Given the description of an element on the screen output the (x, y) to click on. 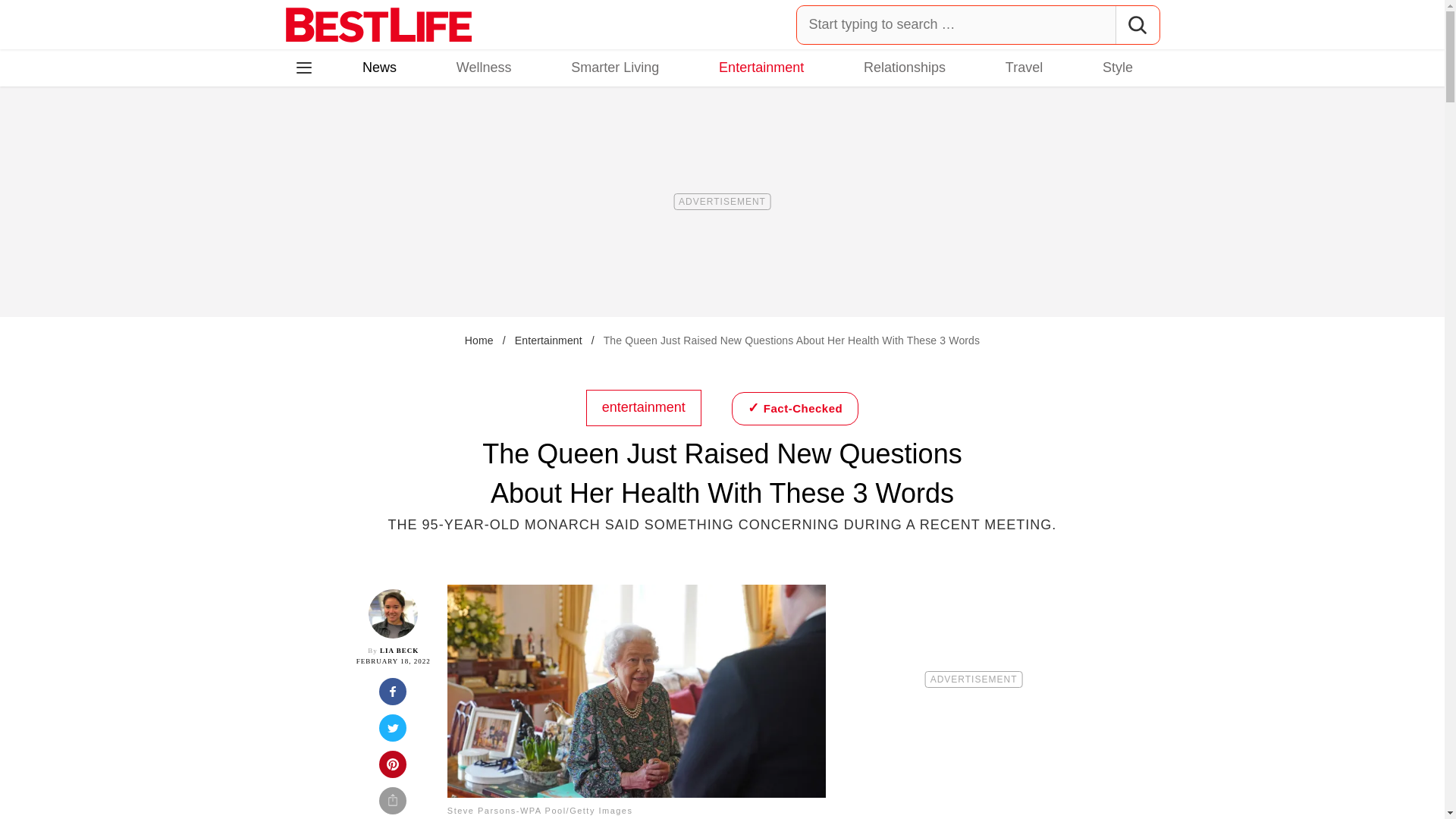
Share via email (392, 803)
Facebook (314, 133)
Facebook (314, 133)
Entertainment (761, 66)
Type and press Enter to search (978, 24)
Share on Pinterest (392, 769)
Travel (1023, 66)
entertainment (643, 406)
Wellness (483, 66)
LIA BECK (399, 650)
Share on Facebook (392, 696)
Instagram (357, 133)
Smarter Living (614, 66)
News (379, 66)
Home (478, 340)
